Given the description of an element on the screen output the (x, y) to click on. 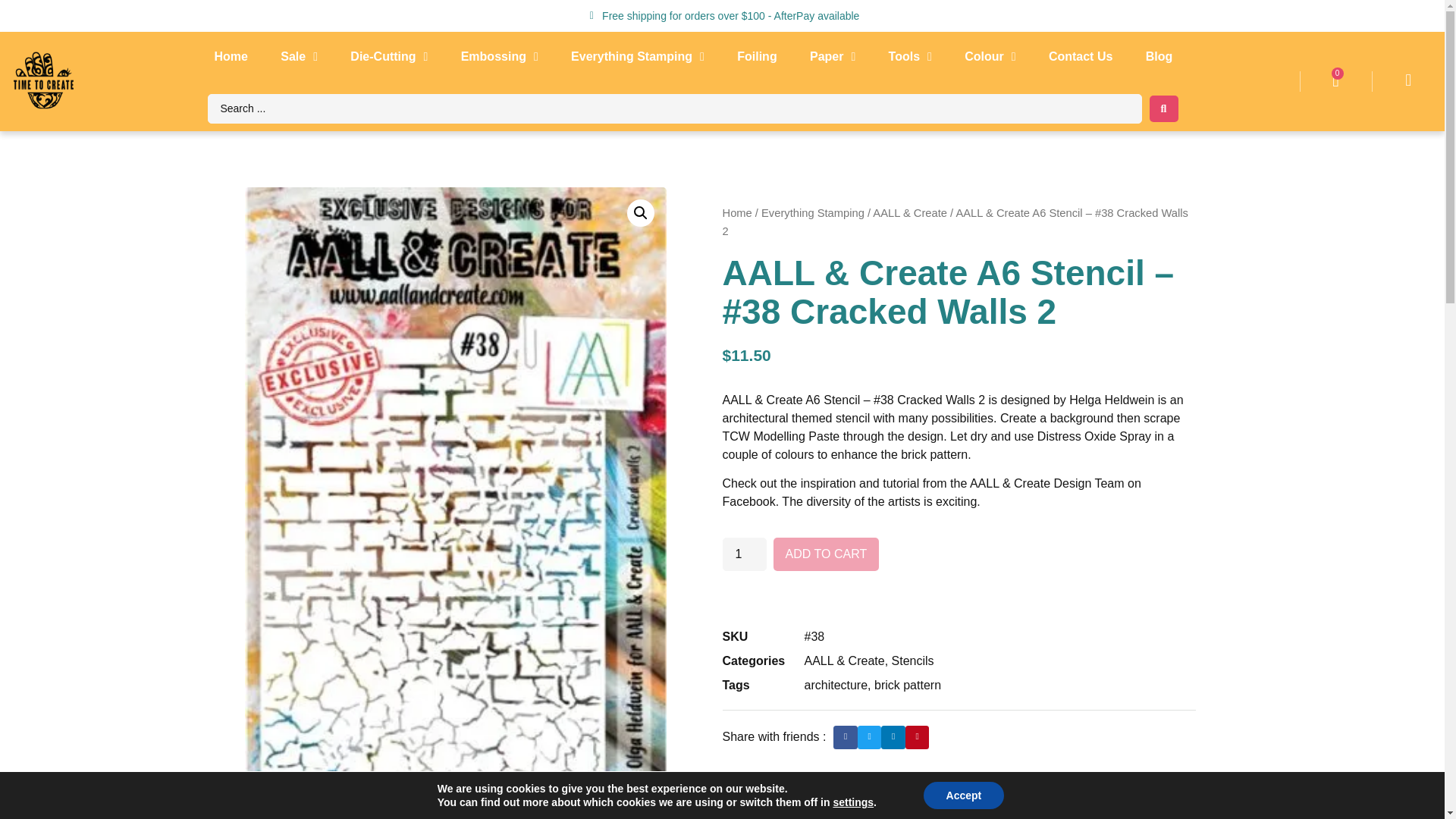
Sale (299, 56)
1 (743, 553)
PayPal (958, 591)
Die-Cutting (388, 56)
Home (230, 56)
Embossing (499, 56)
Everything Stamping (637, 56)
